Given the description of an element on the screen output the (x, y) to click on. 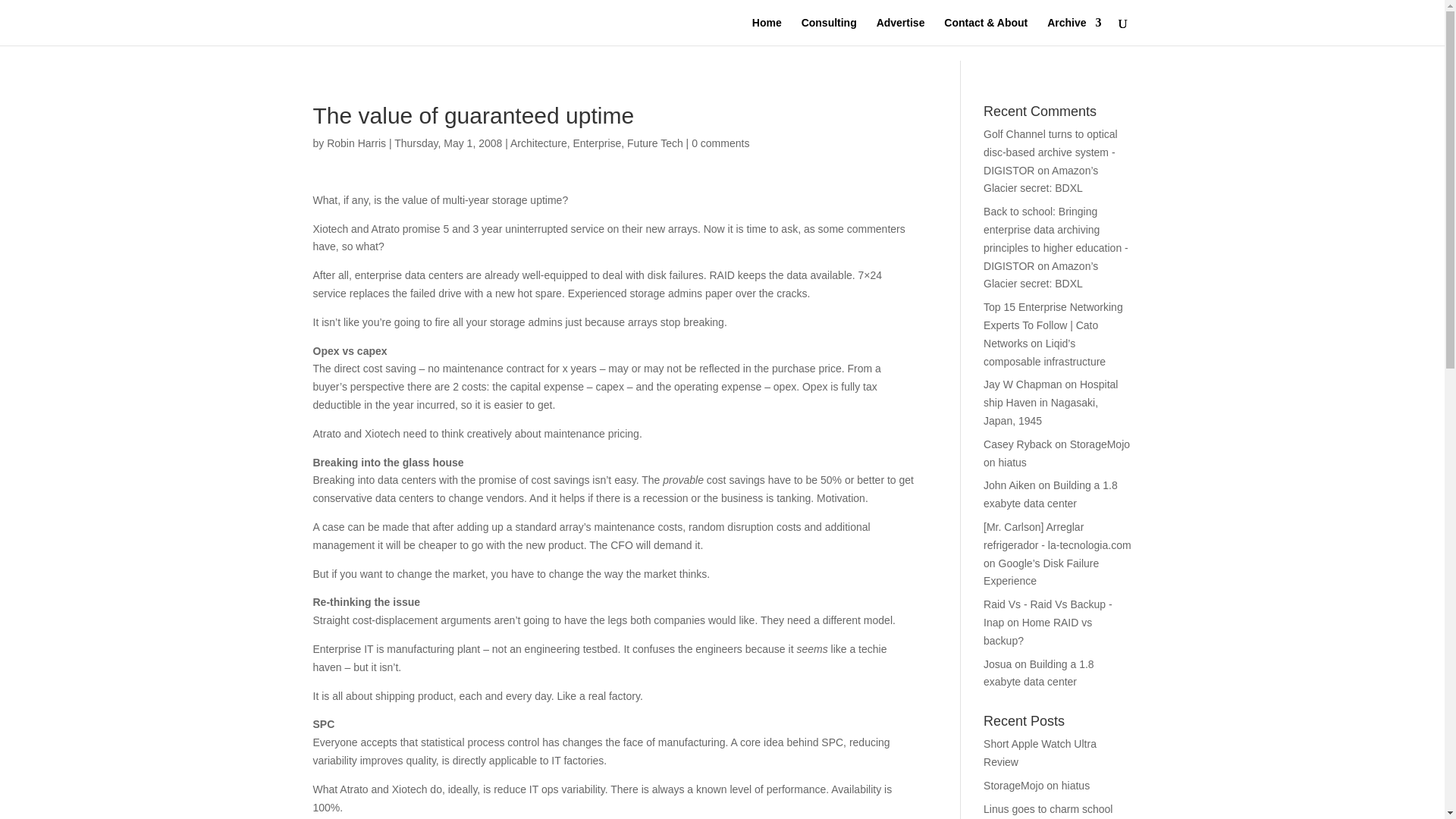
Future Tech (654, 143)
Home RAID vs backup? (1038, 631)
Raid Vs - Raid Vs Backup - Inap (1048, 613)
John Aiken (1009, 485)
Architecture (539, 143)
Home (766, 31)
StorageMojo on hiatus (1036, 785)
Building a 1.8 exabyte data center (1051, 494)
0 comments (720, 143)
